Given the description of an element on the screen output the (x, y) to click on. 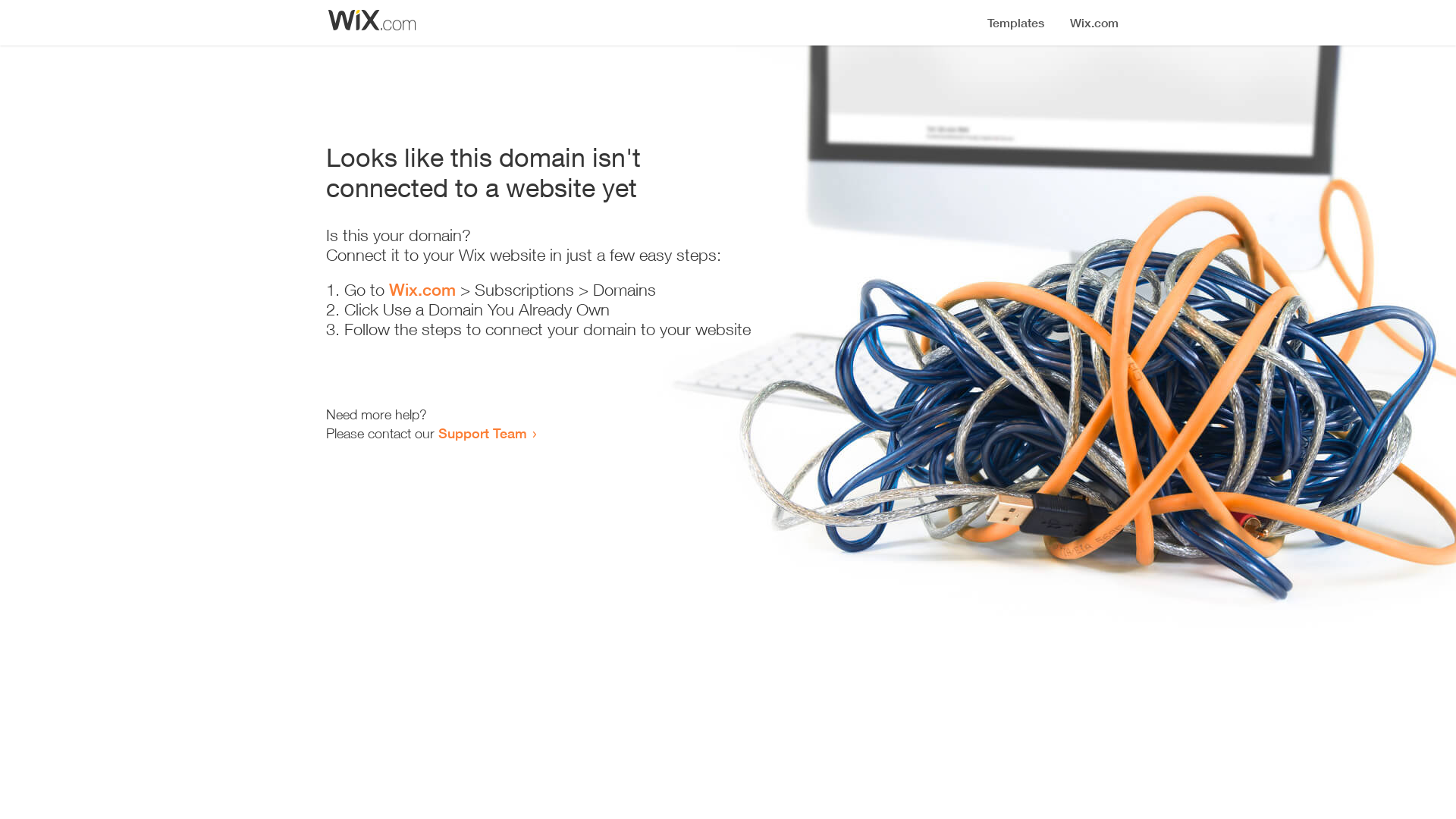
Support Team Element type: text (482, 432)
Wix.com Element type: text (422, 289)
